Given the description of an element on the screen output the (x, y) to click on. 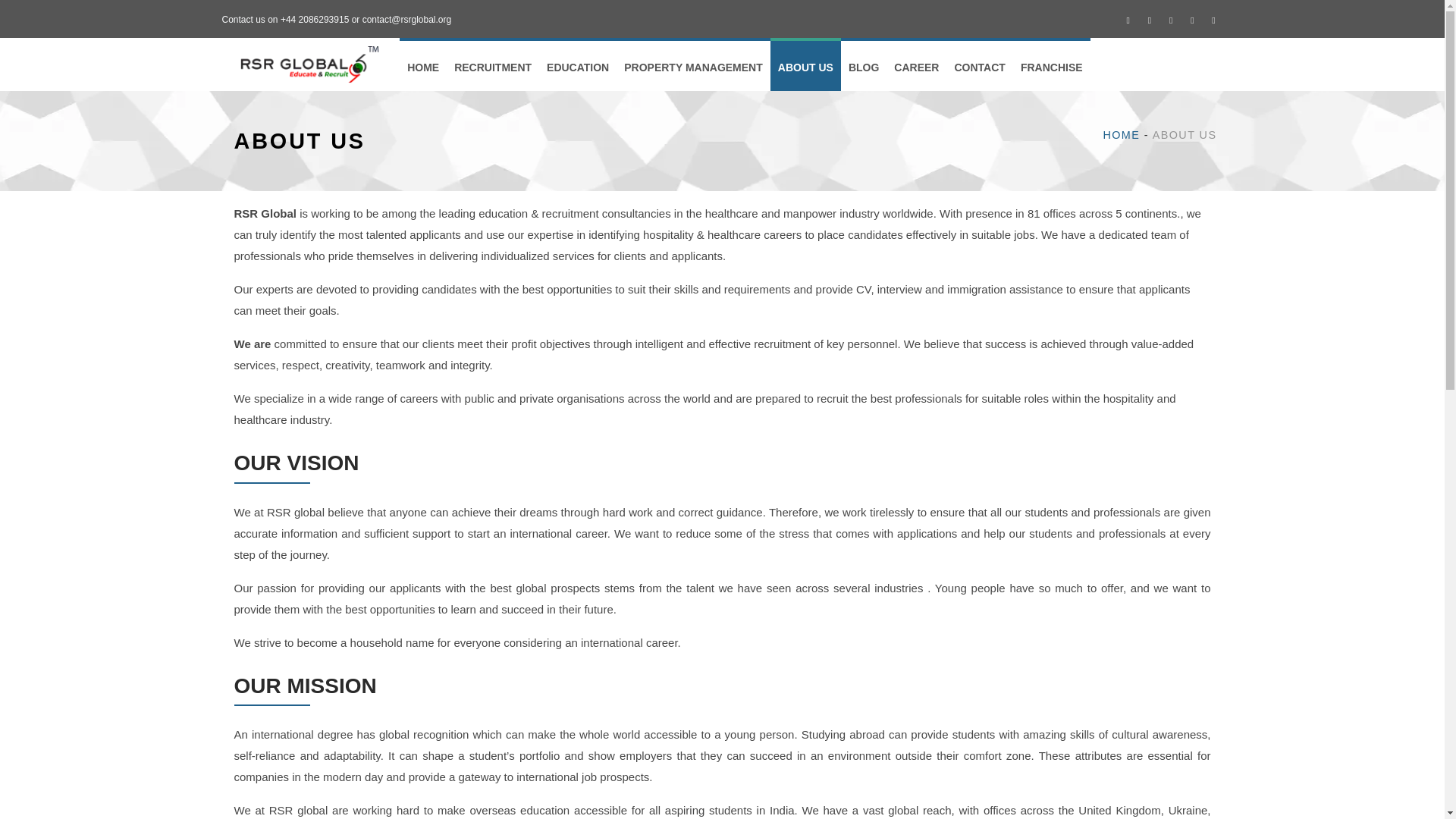
EDUCATION (576, 63)
Instagram (1170, 20)
PROPERTY MANAGEMENT (692, 63)
Linkedin (1191, 20)
ABOUT US (805, 63)
Youtube (1213, 20)
RECRUITMENT (492, 63)
Facebook (1128, 20)
Twitter (1149, 20)
HOME (422, 63)
